Given the description of an element on the screen output the (x, y) to click on. 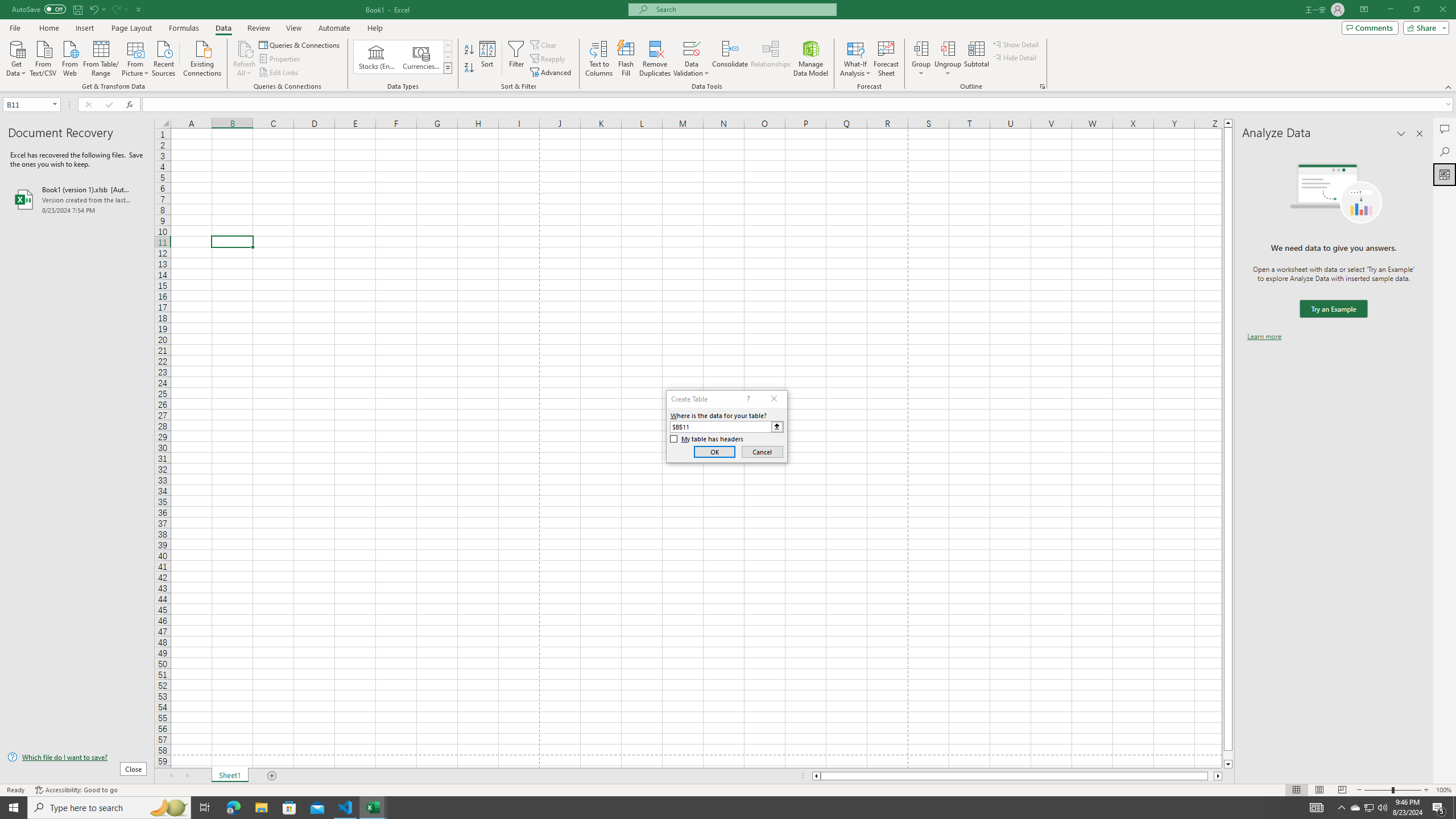
Close pane (1419, 133)
Comments (1369, 27)
Zoom Out (1377, 790)
Data (223, 28)
Class: MsoCommandBar (728, 45)
We need data to give you answers. Try an Example (1333, 308)
Group... (921, 48)
What-If Analysis (855, 58)
Filter (515, 58)
From Picture (135, 57)
Automate (334, 28)
View (293, 28)
Refresh All (244, 58)
